Given the description of an element on the screen output the (x, y) to click on. 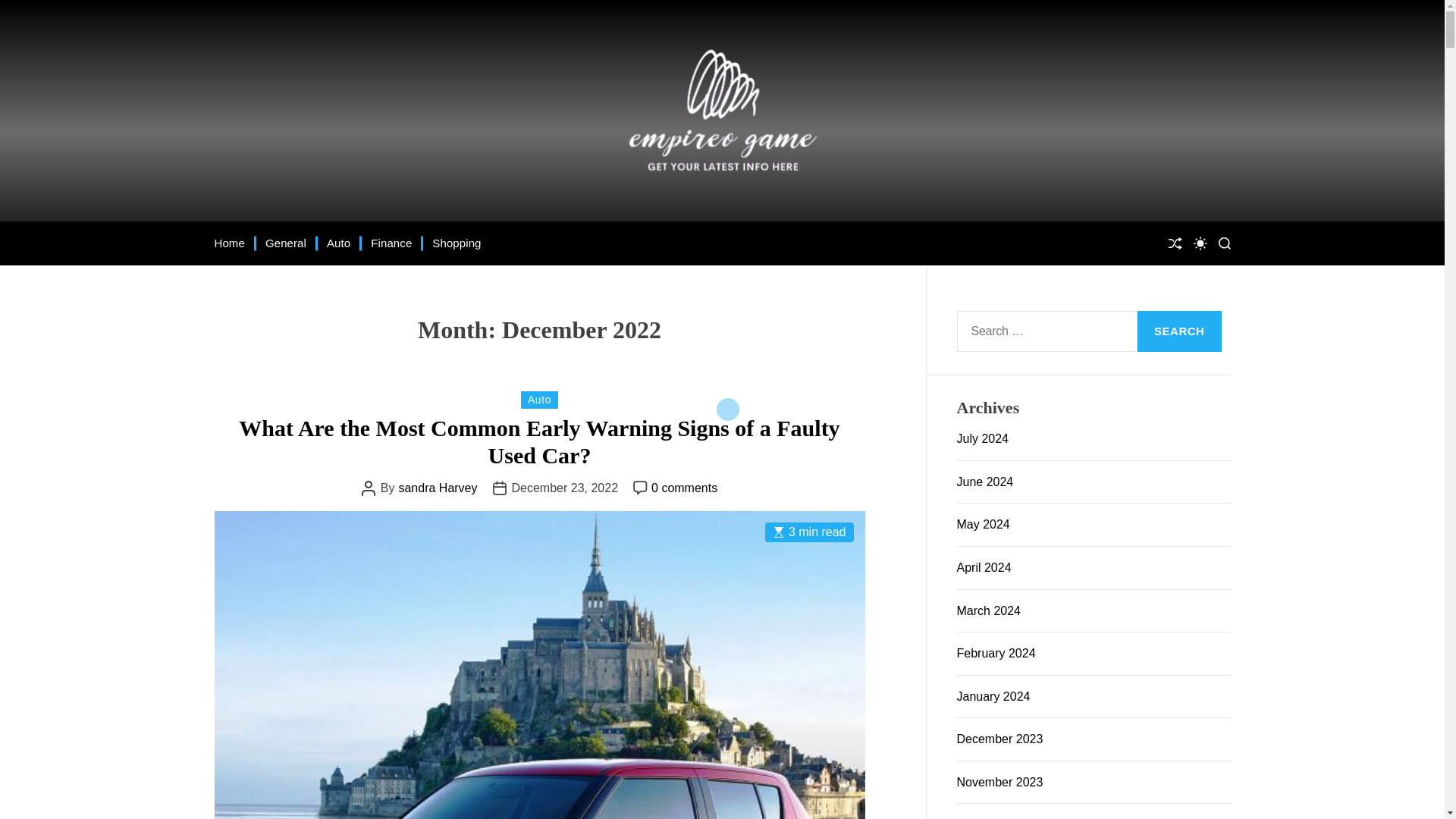
General (284, 243)
Search (1180, 331)
SHUFFLE (1173, 243)
Auto (539, 399)
0 comments (683, 488)
Search (1180, 331)
Finance (391, 243)
sandra Harvey (437, 488)
SWITCH COLOR MODE (1200, 243)
